Given the description of an element on the screen output the (x, y) to click on. 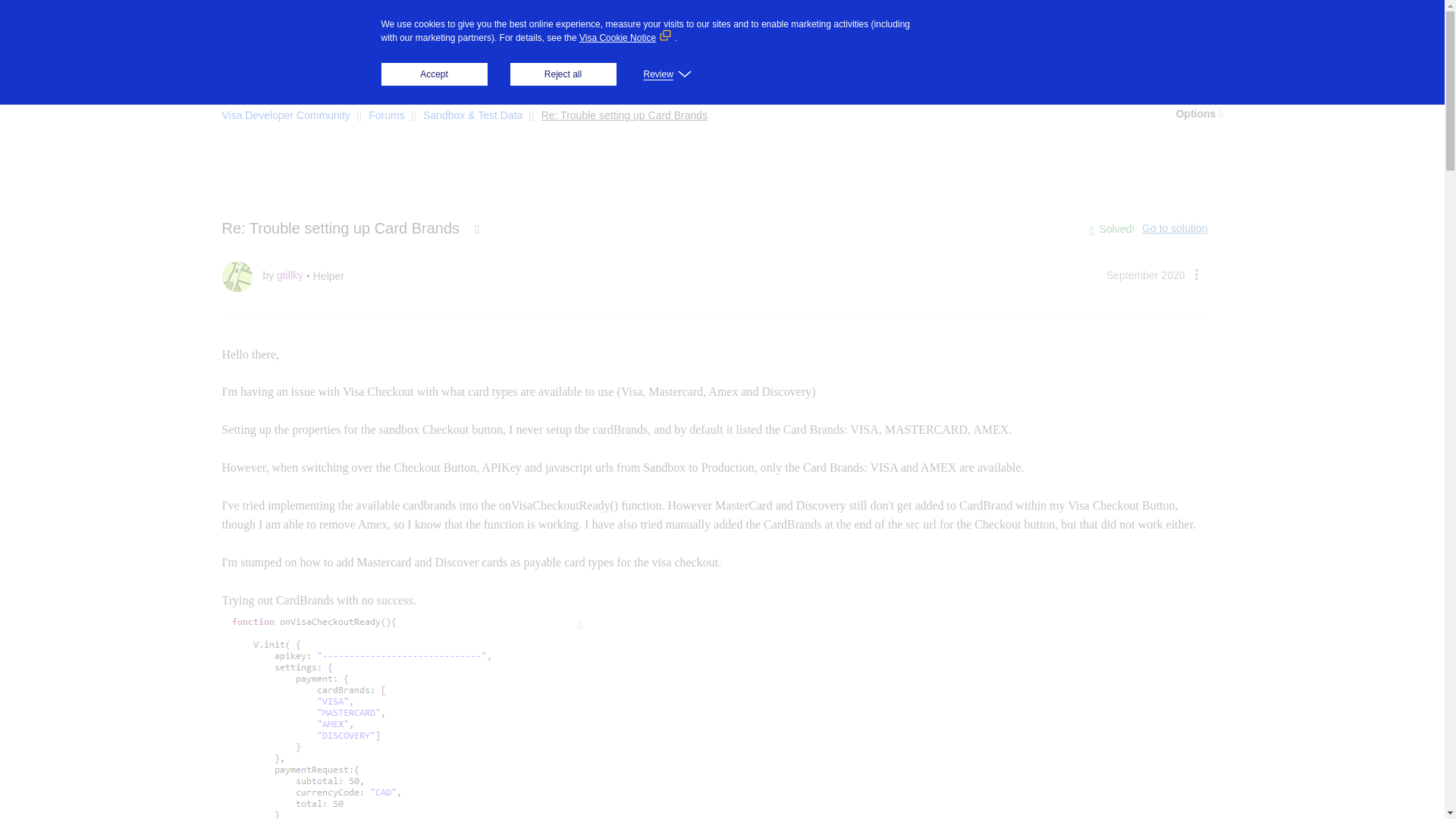
Contains a hyperlink (478, 229)
Products (453, 25)
Posted on (1145, 274)
Show option menu (1196, 273)
Webinars (550, 67)
Tutorials (481, 67)
gtillky (236, 276)
Resources (624, 25)
Forums (359, 68)
Blogs (421, 67)
cardBrand function.png (407, 714)
Community Home (268, 67)
Show option menu (1198, 113)
